Given the description of an element on the screen output the (x, y) to click on. 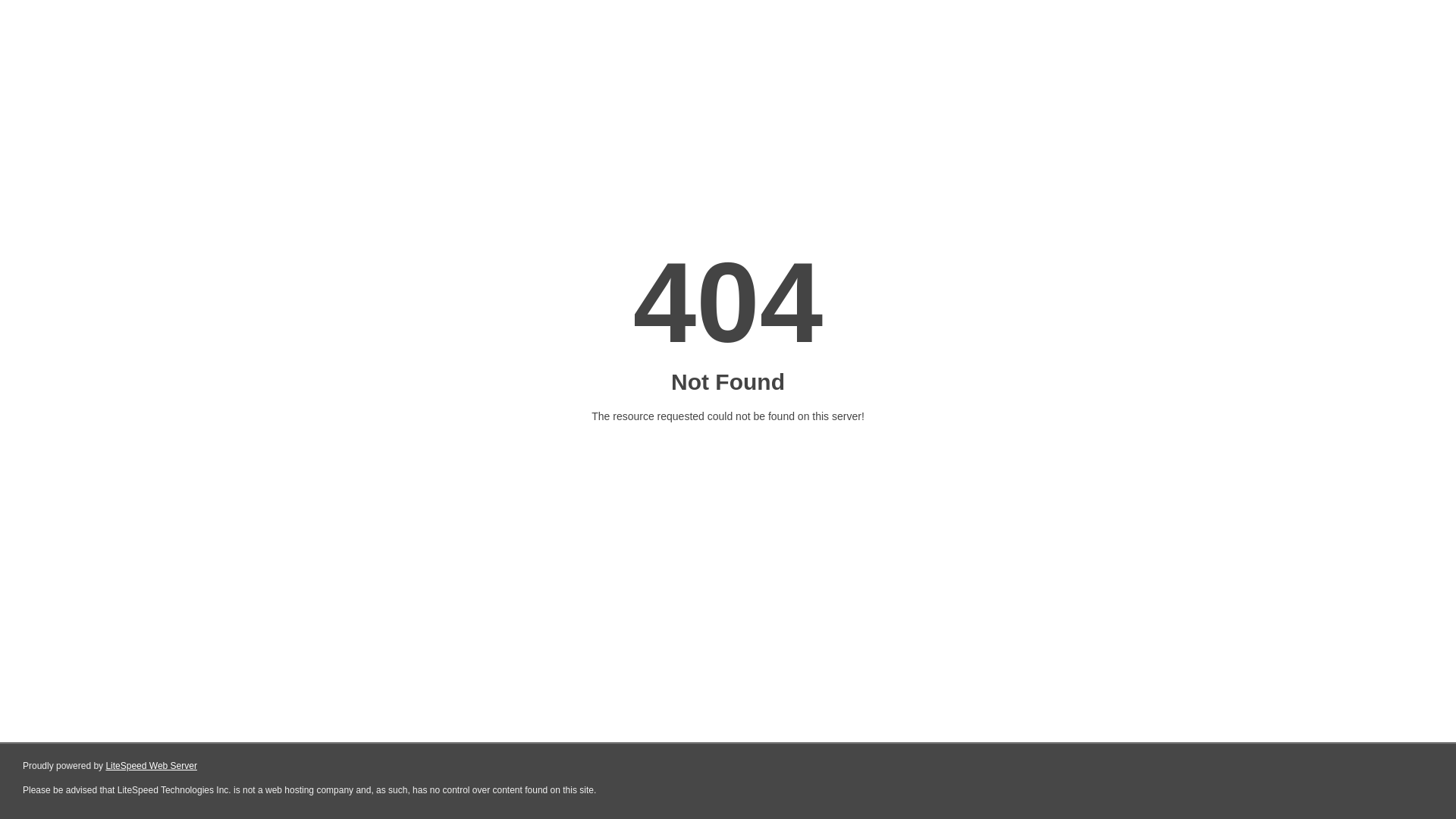
LiteSpeed Web Server Element type: text (151, 765)
